Given the description of an element on the screen output the (x, y) to click on. 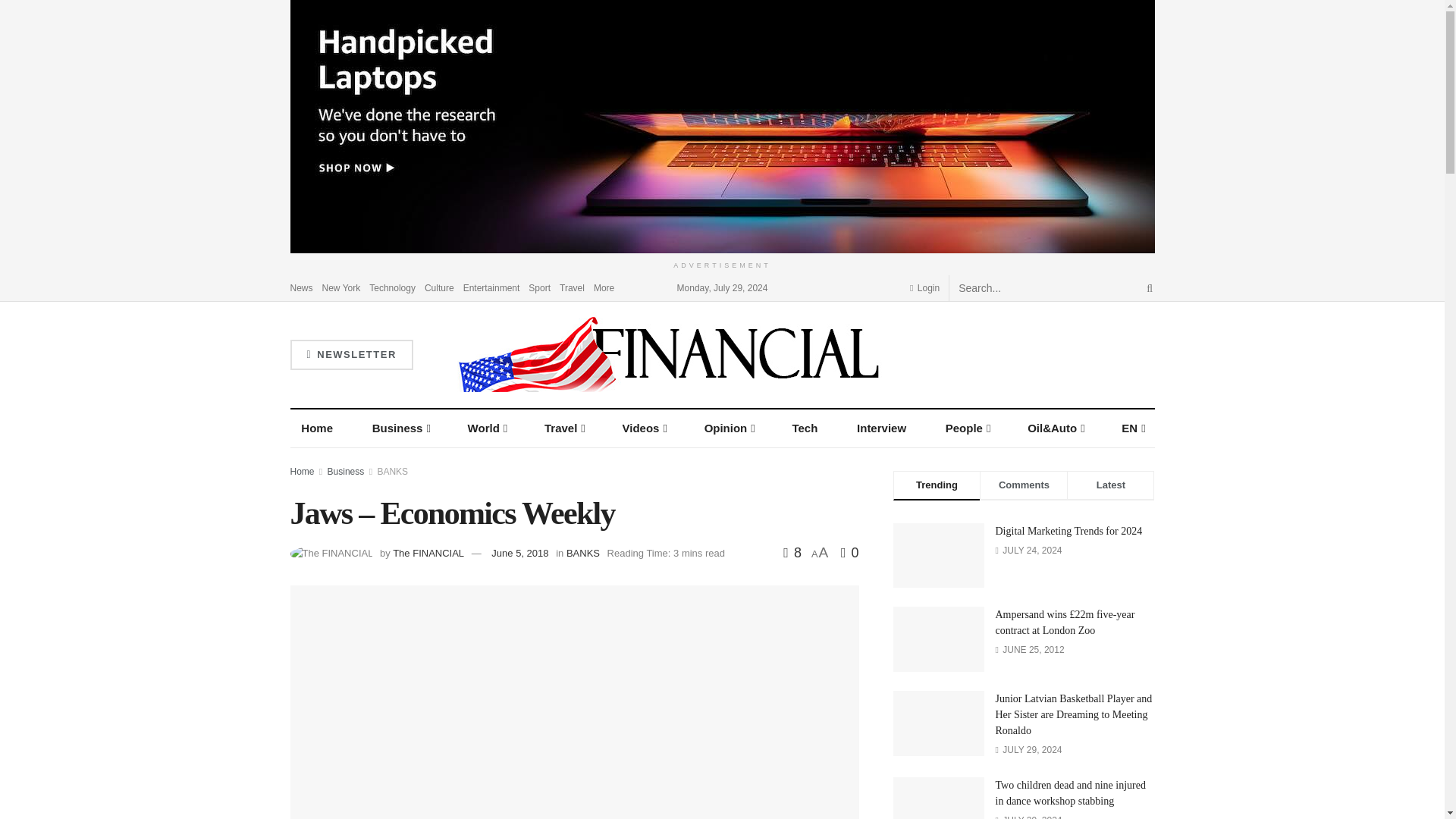
World (486, 428)
Technology (391, 287)
Business (400, 428)
Culture (439, 287)
Login (924, 287)
New York (341, 287)
Home (316, 428)
NEWSLETTER (350, 354)
Travel (572, 287)
Entertainment (491, 287)
